Given the description of an element on the screen output the (x, y) to click on. 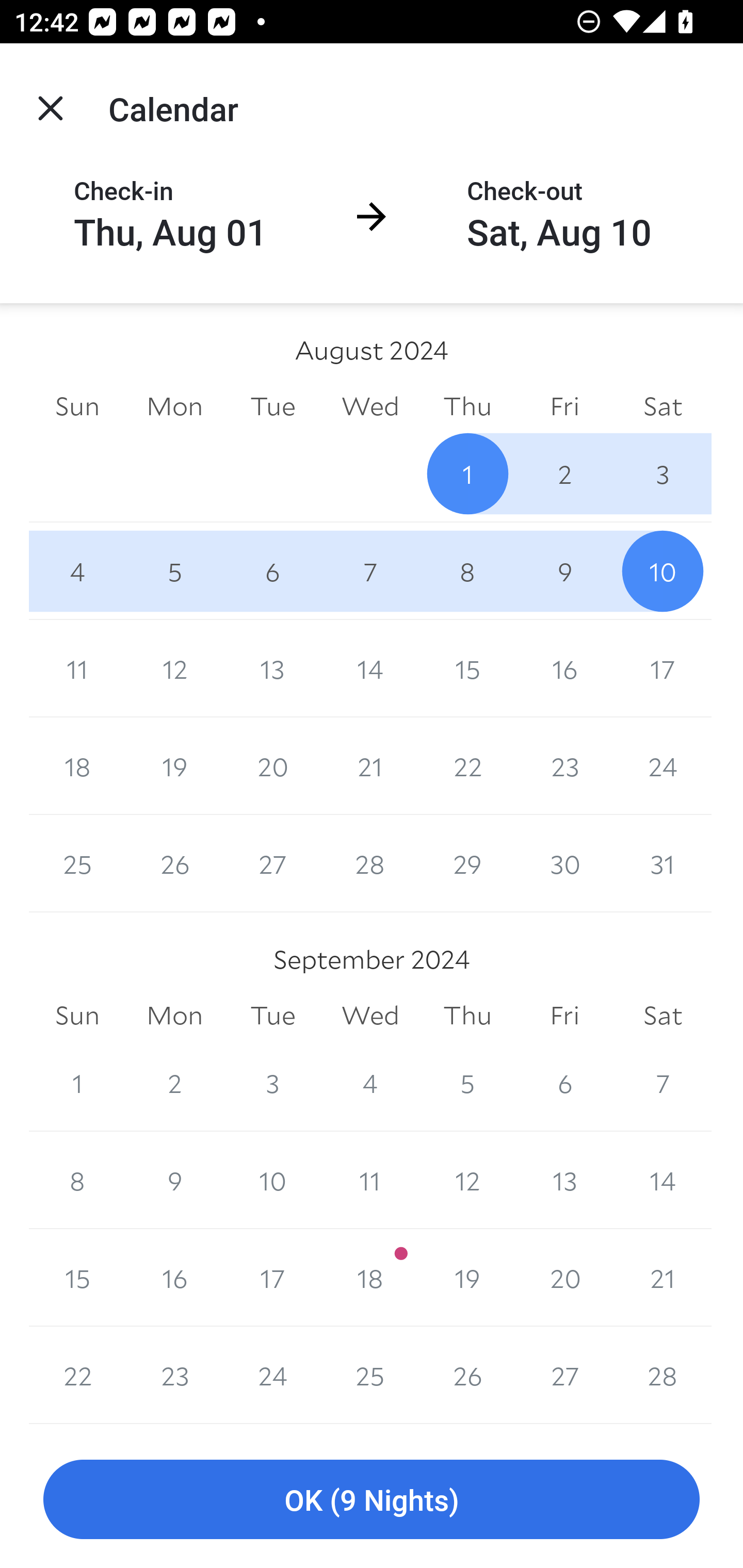
Sun (77, 405)
Mon (174, 405)
Tue (272, 405)
Wed (370, 405)
Thu (467, 405)
Fri (564, 405)
Sat (662, 405)
1 1 August 2024 (467, 473)
2 2 August 2024 (564, 473)
3 3 August 2024 (662, 473)
4 4 August 2024 (77, 570)
5 5 August 2024 (174, 570)
6 6 August 2024 (272, 570)
7 7 August 2024 (370, 570)
8 8 August 2024 (467, 570)
9 9 August 2024 (564, 570)
10 10 August 2024 (662, 570)
11 11 August 2024 (77, 668)
12 12 August 2024 (174, 668)
13 13 August 2024 (272, 668)
14 14 August 2024 (370, 668)
15 15 August 2024 (467, 668)
16 16 August 2024 (564, 668)
17 17 August 2024 (662, 668)
18 18 August 2024 (77, 766)
19 19 August 2024 (174, 766)
20 20 August 2024 (272, 766)
21 21 August 2024 (370, 766)
22 22 August 2024 (467, 766)
23 23 August 2024 (564, 766)
24 24 August 2024 (662, 766)
25 25 August 2024 (77, 863)
26 26 August 2024 (174, 863)
27 27 August 2024 (272, 863)
28 28 August 2024 (370, 863)
29 29 August 2024 (467, 863)
30 30 August 2024 (564, 863)
31 31 August 2024 (662, 863)
Sun (77, 1015)
Mon (174, 1015)
Tue (272, 1015)
Wed (370, 1015)
Thu (467, 1015)
Fri (564, 1015)
Sat (662, 1015)
1 1 September 2024 (77, 1083)
2 2 September 2024 (174, 1083)
3 3 September 2024 (272, 1083)
4 4 September 2024 (370, 1083)
5 5 September 2024 (467, 1083)
6 6 September 2024 (564, 1083)
7 7 September 2024 (662, 1083)
8 8 September 2024 (77, 1180)
9 9 September 2024 (174, 1180)
10 10 September 2024 (272, 1180)
11 11 September 2024 (370, 1180)
12 12 September 2024 (467, 1180)
13 13 September 2024 (564, 1180)
14 14 September 2024 (662, 1180)
15 15 September 2024 (77, 1277)
16 16 September 2024 (174, 1277)
17 17 September 2024 (272, 1277)
18 18 September 2024 (370, 1277)
19 19 September 2024 (467, 1277)
20 20 September 2024 (564, 1277)
21 21 September 2024 (662, 1277)
22 22 September 2024 (77, 1374)
23 23 September 2024 (174, 1374)
24 24 September 2024 (272, 1374)
25 25 September 2024 (370, 1374)
26 26 September 2024 (467, 1374)
27 27 September 2024 (564, 1374)
28 28 September 2024 (662, 1374)
OK (9 Nights) (371, 1499)
